Given the description of an element on the screen output the (x, y) to click on. 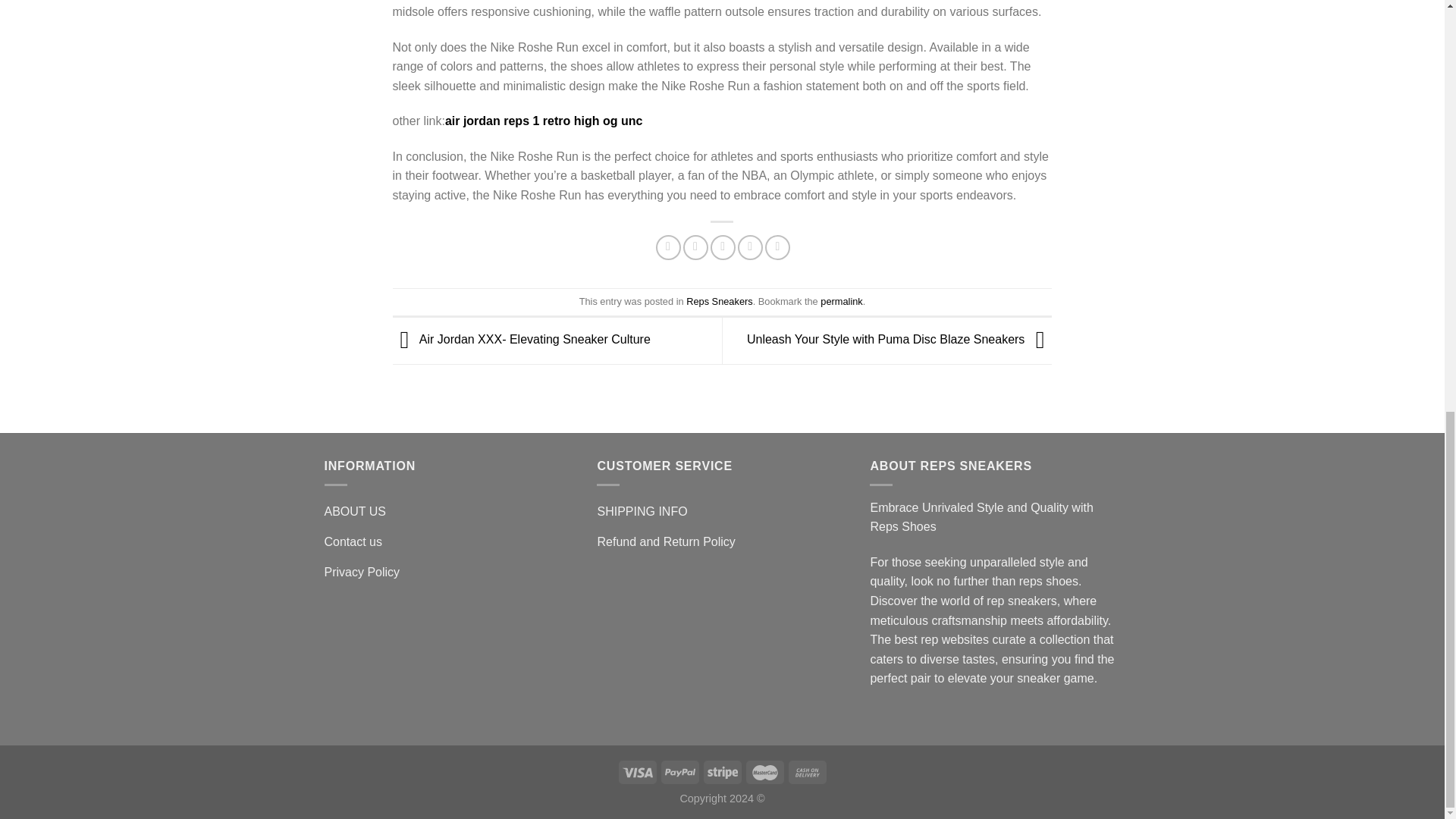
Share on Facebook (668, 247)
Share on Twitter (694, 247)
Share on LinkedIn (777, 247)
Permalink to Embrace Comfort and Style with Nike Roshe Run (841, 301)
Email to a Friend (722, 247)
Pin on Pinterest (750, 247)
